Given the description of an element on the screen output the (x, y) to click on. 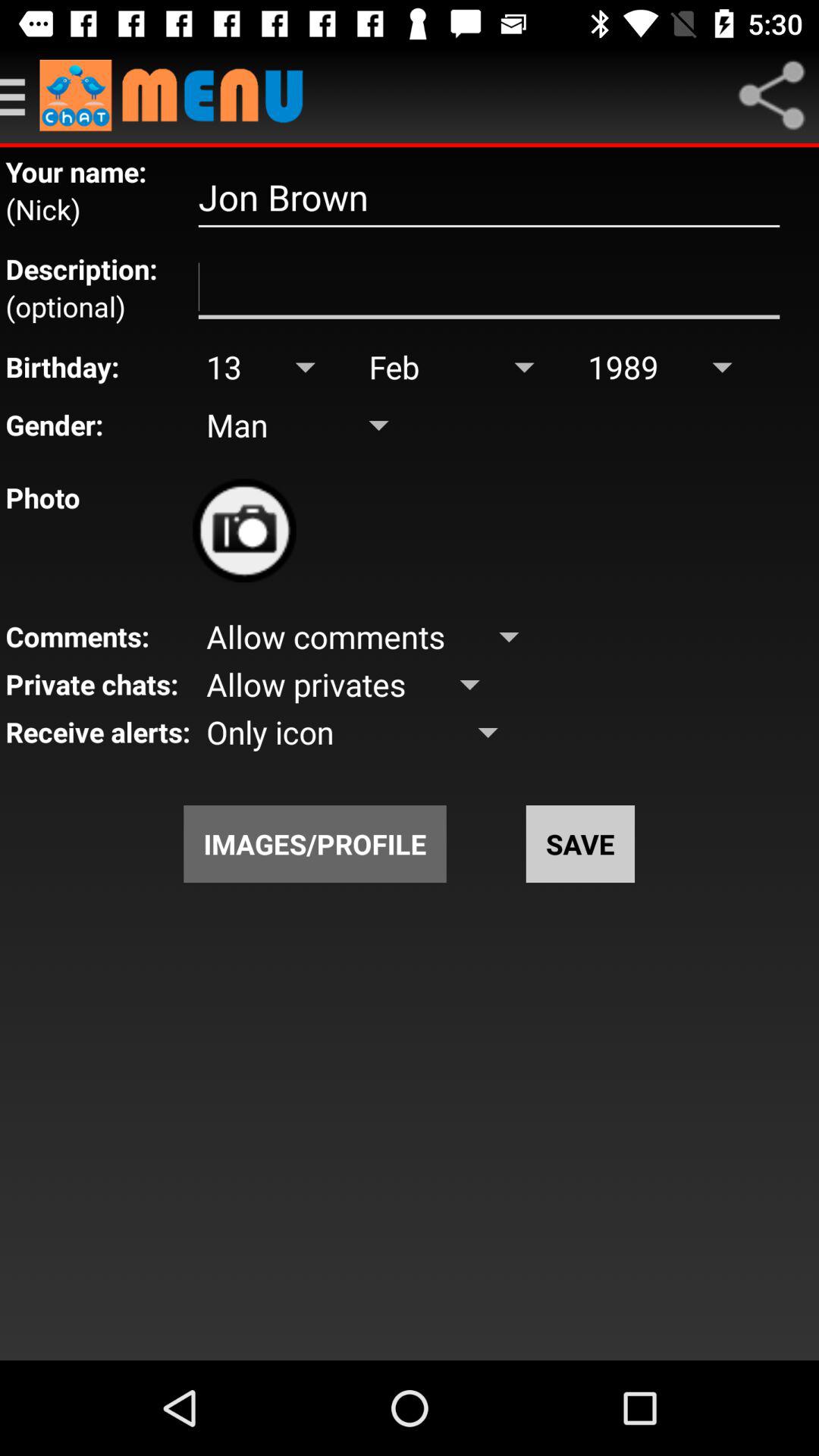
open side men (19, 95)
